Given the description of an element on the screen output the (x, y) to click on. 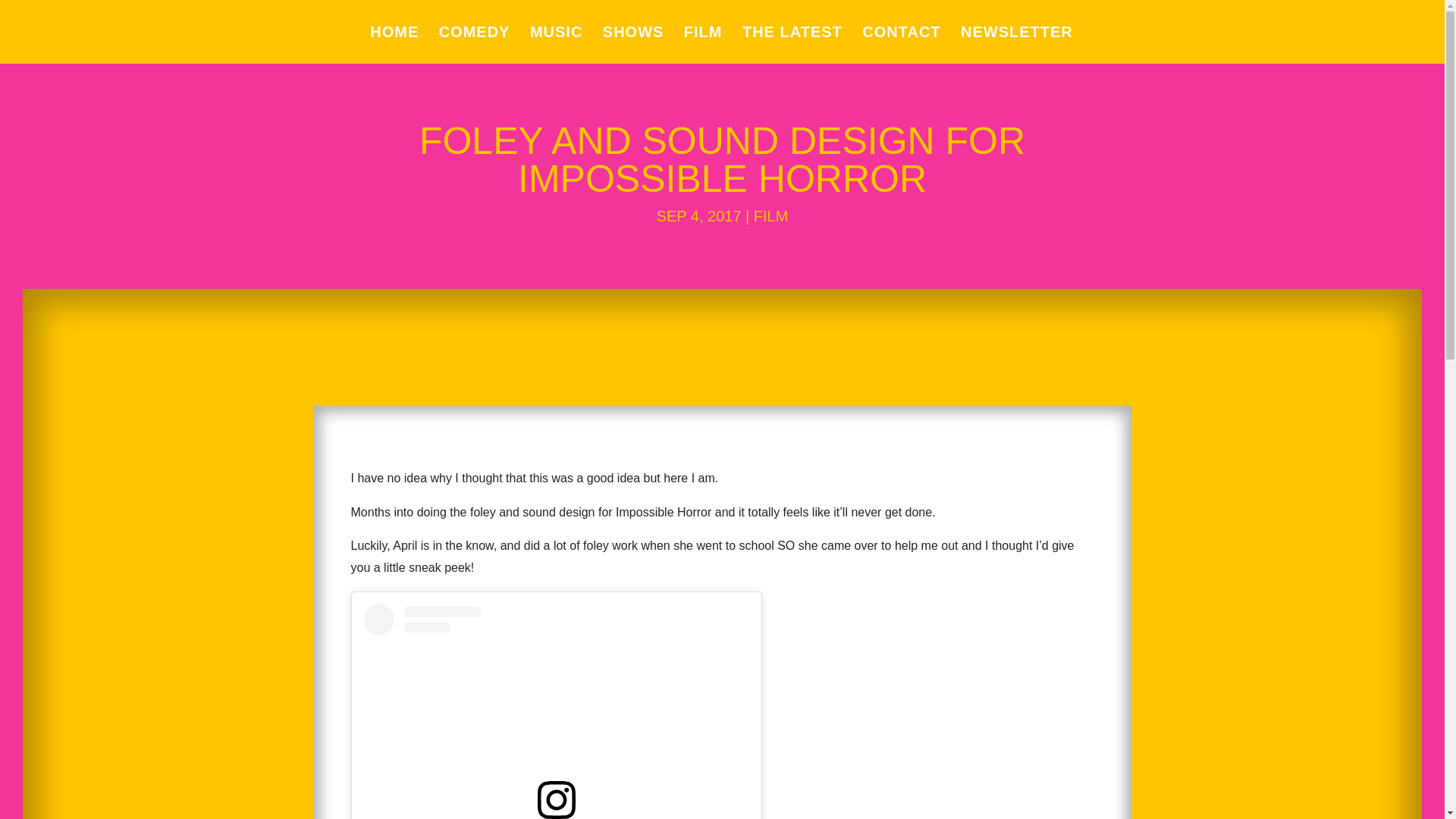
NEWSLETTER (1016, 44)
CONTACT (900, 44)
HOME (394, 44)
THE LATEST (792, 44)
View this post on Instagram (556, 711)
SHOWS (632, 44)
FILM (703, 44)
FILM (771, 216)
MUSIC (555, 44)
COMEDY (475, 44)
